Given the description of an element on the screen output the (x, y) to click on. 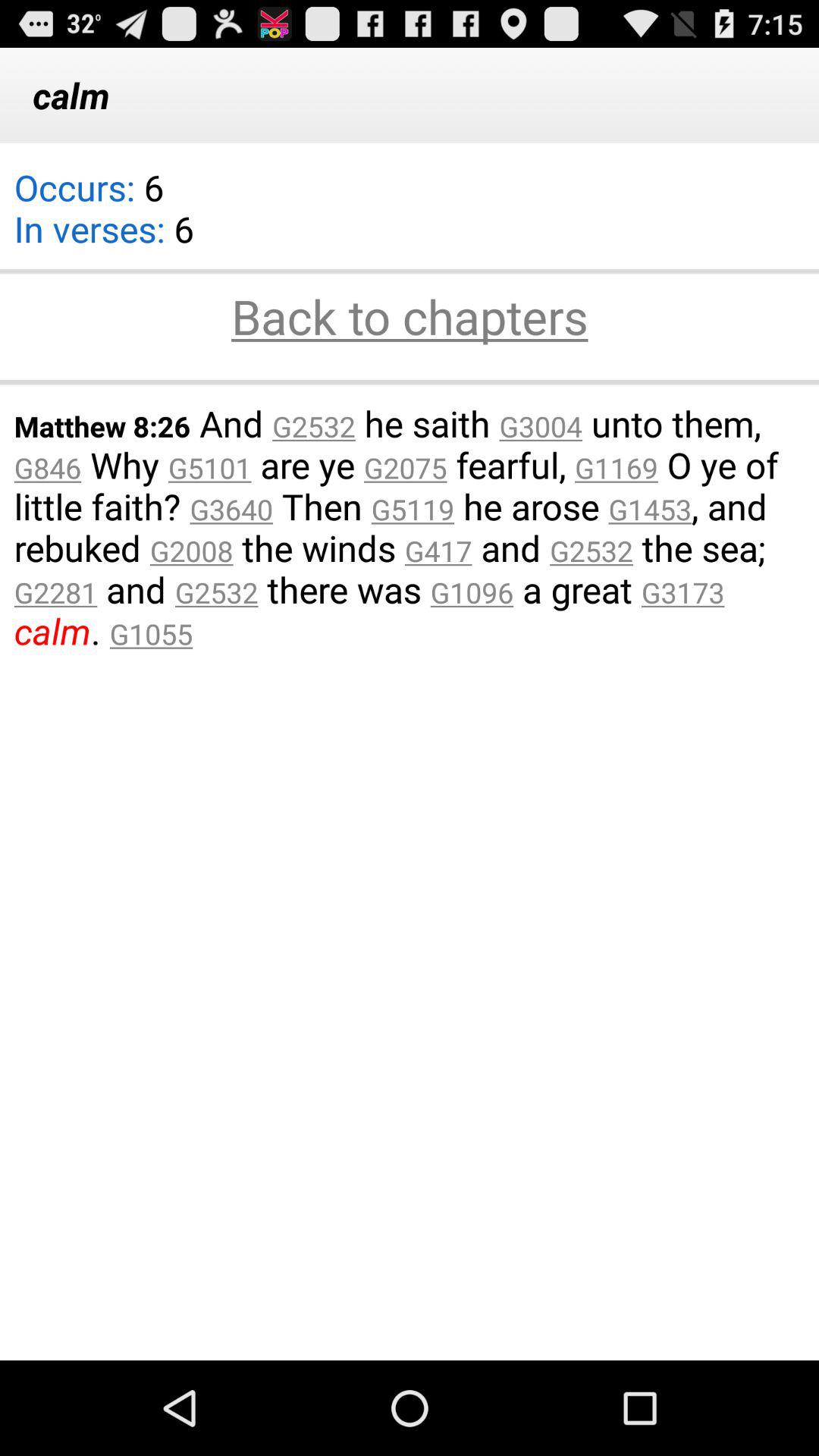
choose matthew 8 26 at the center (409, 527)
